Given the description of an element on the screen output the (x, y) to click on. 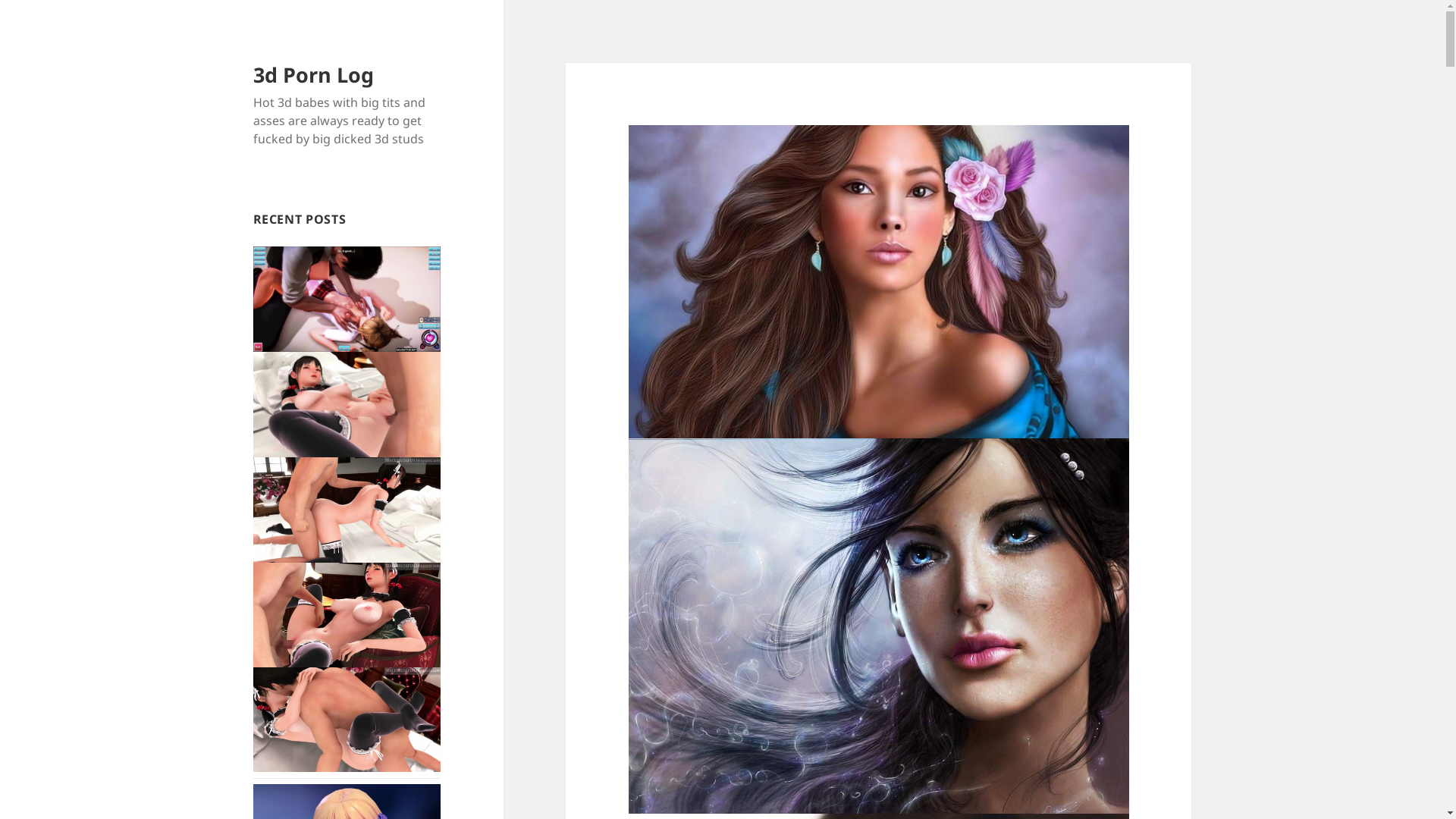
3d Porn Log Element type: text (313, 74)
